Given the description of an element on the screen output the (x, y) to click on. 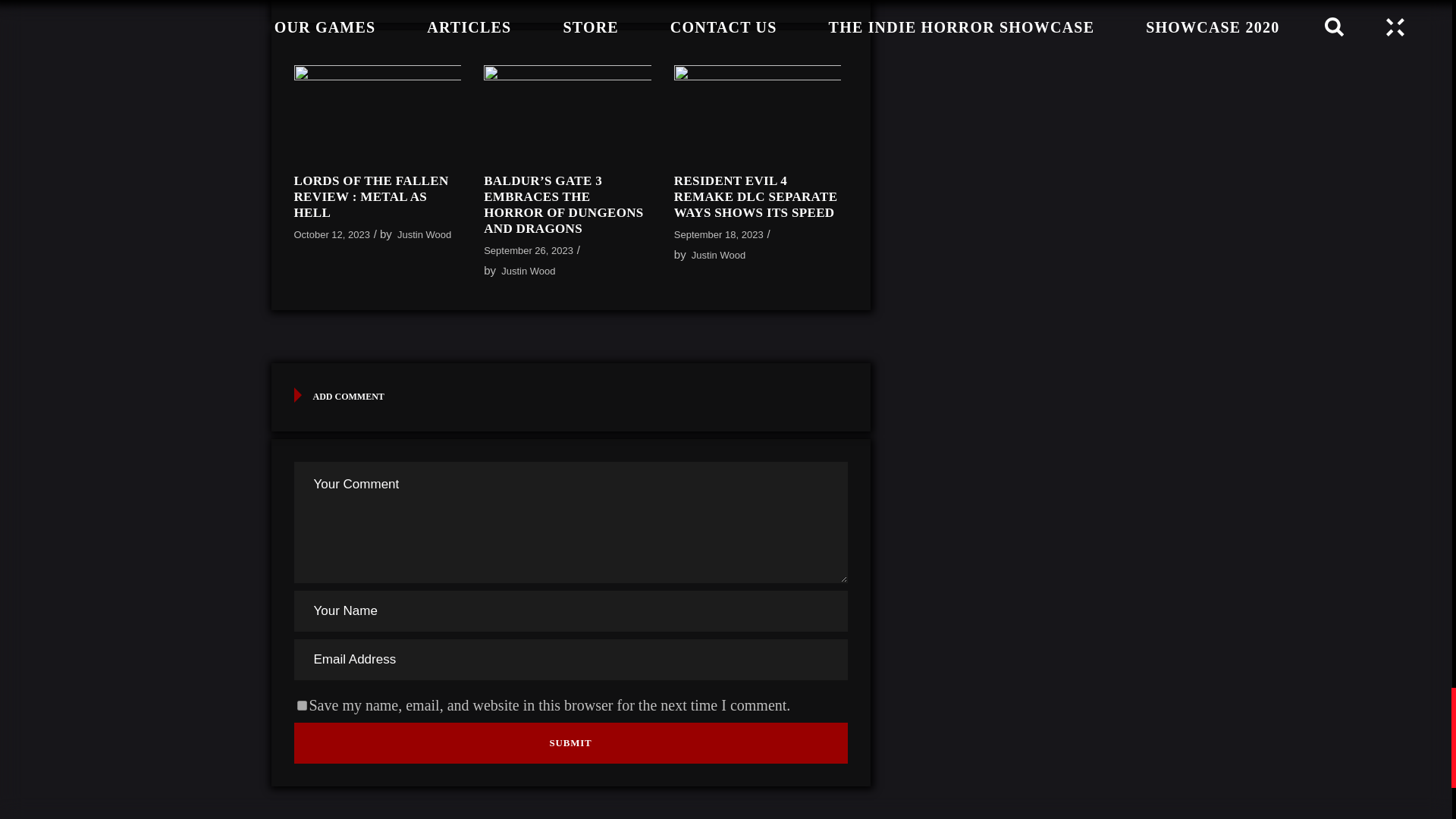
Submit (570, 742)
Lords of the Fallen Review : Metal as Hell (377, 111)
Resident Evil 4 Remake DLC Separate Ways Shows its speed (757, 111)
yes (302, 705)
Resident Evil 4 Remake DLC Separate Ways Shows its speed (756, 196)
Lords of the Fallen Review : Metal as Hell (371, 196)
